Given the description of an element on the screen output the (x, y) to click on. 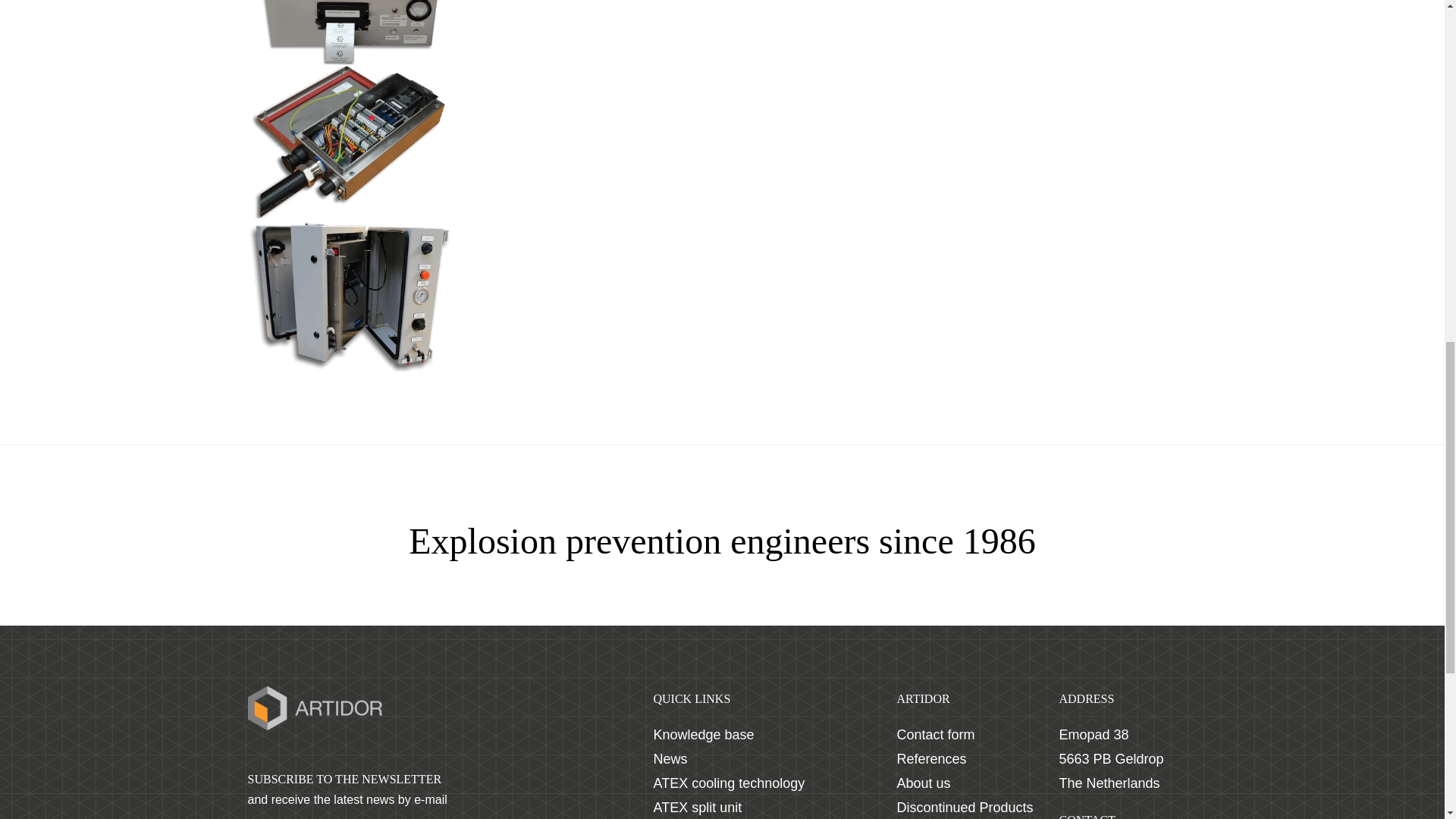
Contact form (935, 734)
About us (923, 783)
ATEX cooling technology (729, 783)
Knowledge base (703, 734)
ATEX split unit (697, 807)
News (670, 758)
References (931, 758)
Discontinued Products (964, 807)
